Given the description of an element on the screen output the (x, y) to click on. 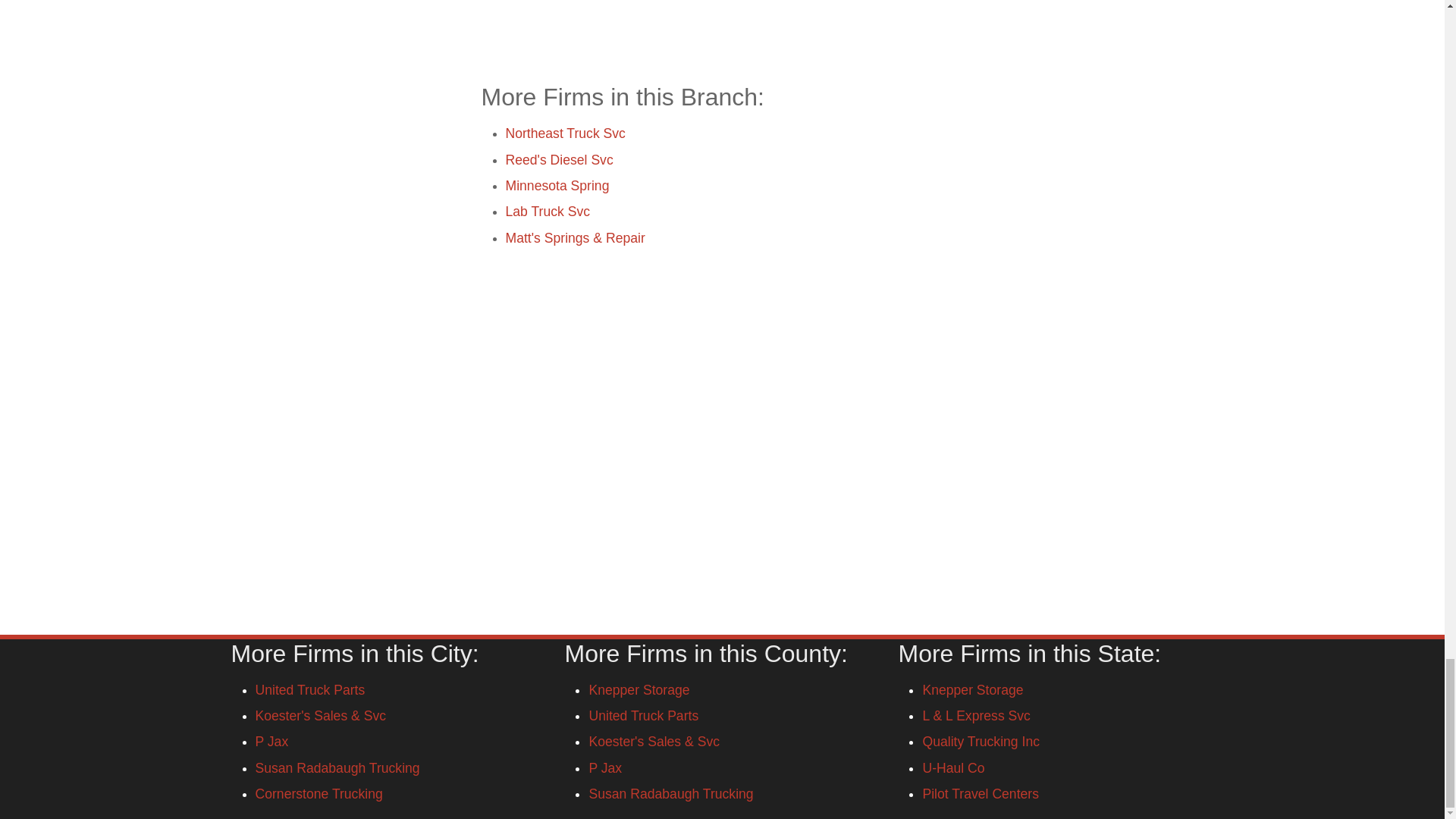
Reed's Diesel Svc (558, 159)
Lab Truck Svc (547, 211)
Minnesota Spring (556, 185)
Northeast Truck Svc (564, 133)
